Given the description of an element on the screen output the (x, y) to click on. 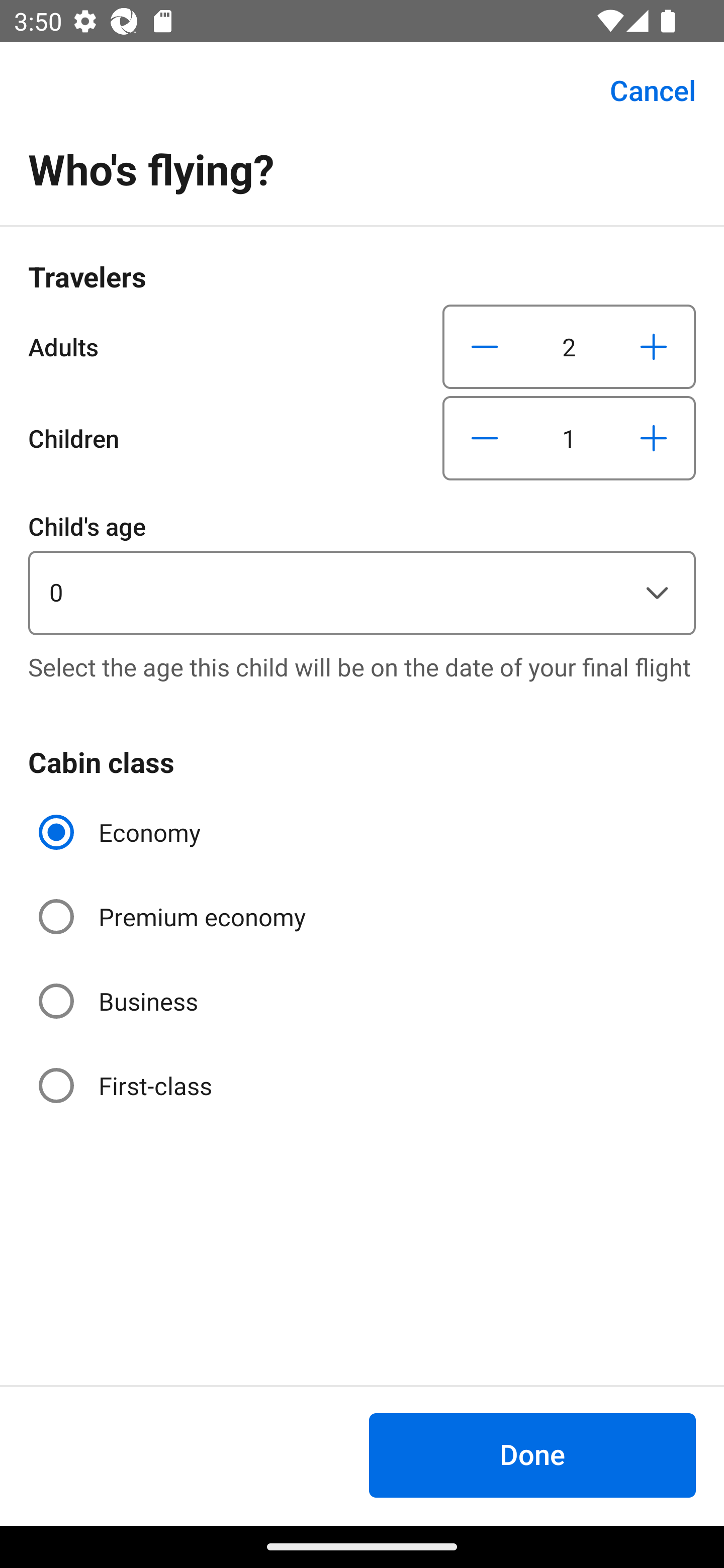
Cancel (641, 90)
Decrease (484, 346)
Increase (653, 346)
Decrease (484, 437)
Increase (653, 437)
Child's age
 Child's age 0 (361, 571)
Economy (121, 832)
Premium economy (174, 916)
Business (120, 1000)
First-class (126, 1084)
Done (532, 1454)
